Given the description of an element on the screen output the (x, y) to click on. 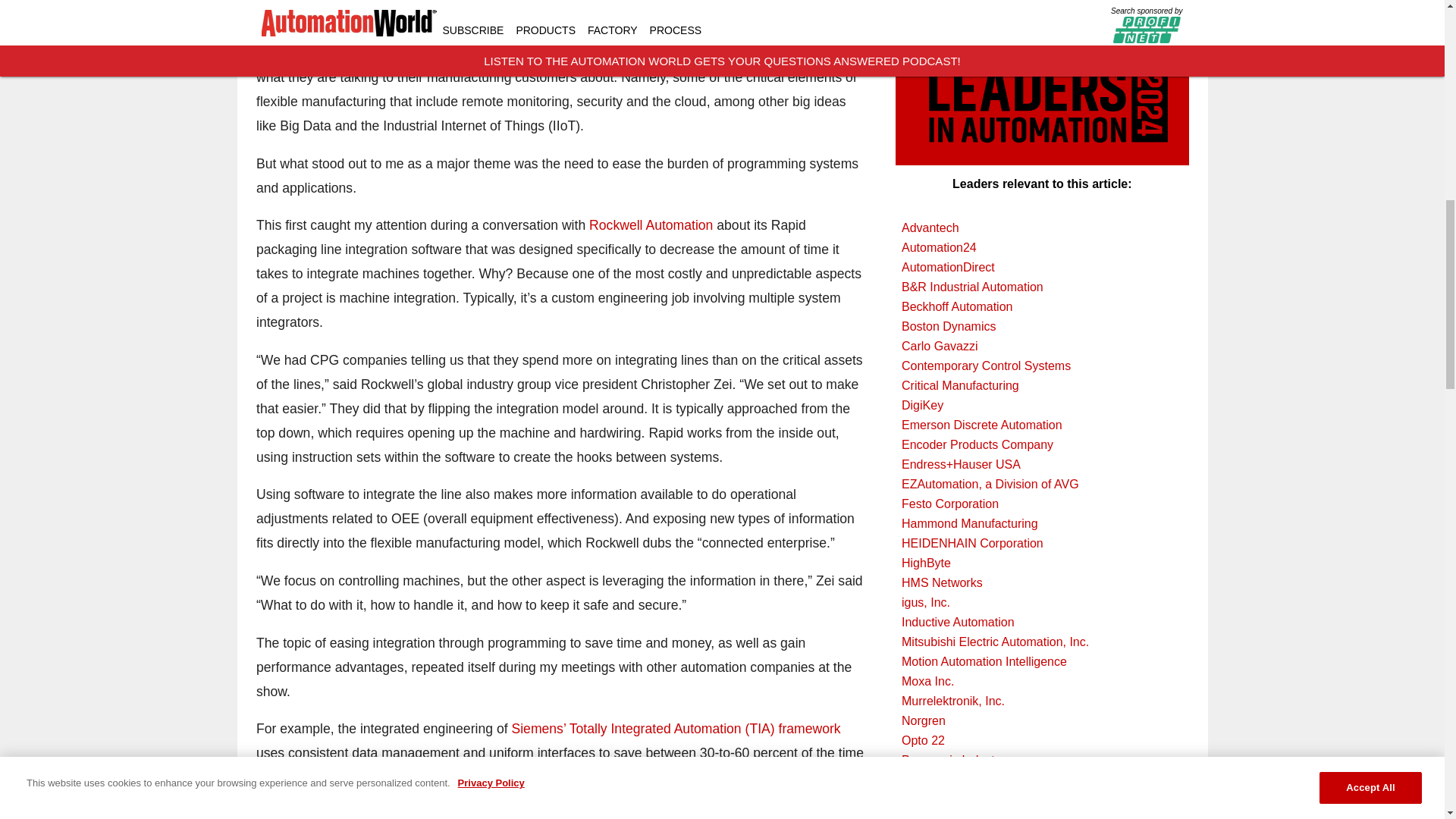
Rockwell Automation (652, 224)
PACK EXPO show in Las Vegas (626, 28)
Advantech (1042, 228)
